Given the description of an element on the screen output the (x, y) to click on. 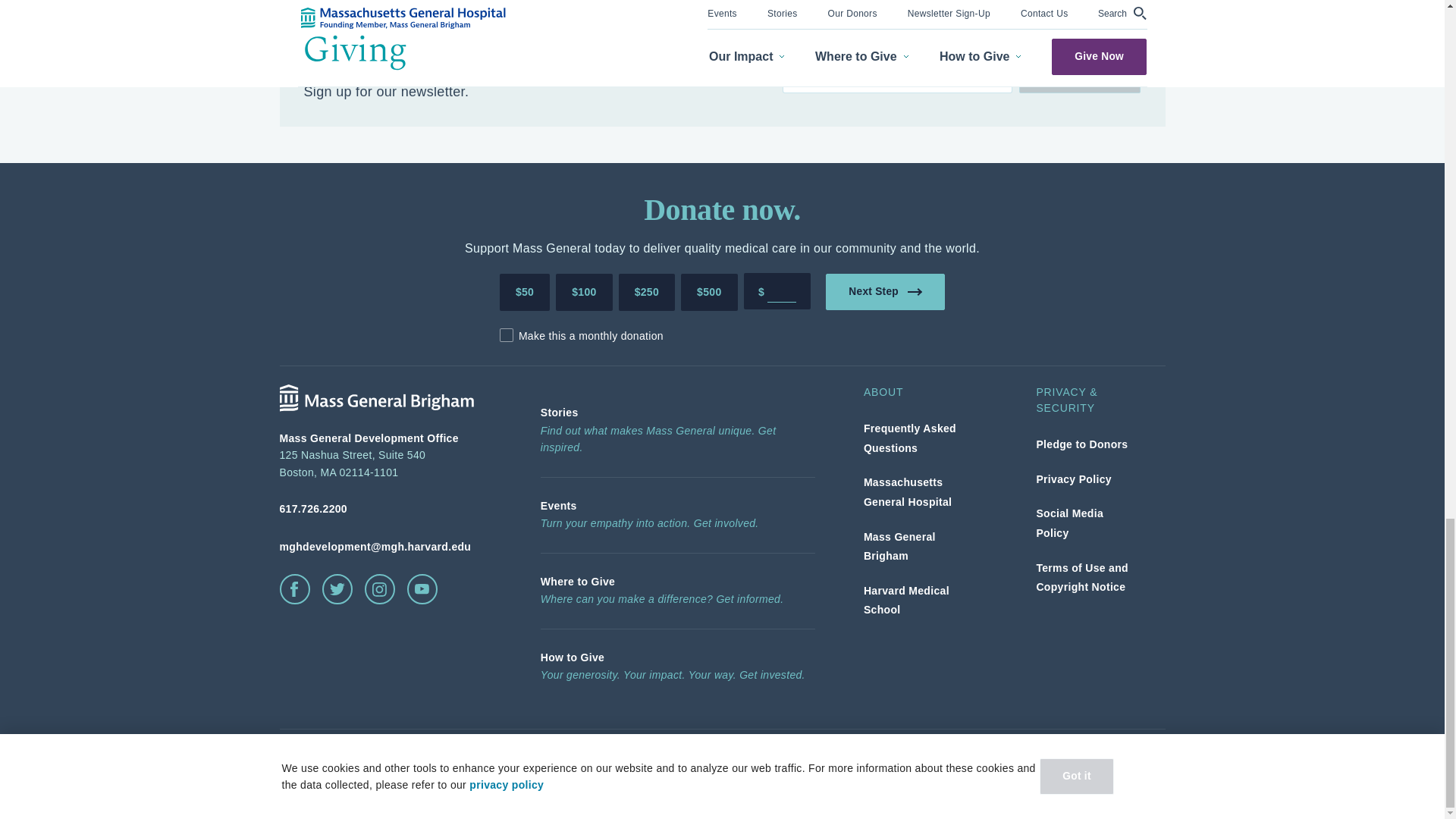
Subscribe (1079, 74)
